Given the description of an element on the screen output the (x, y) to click on. 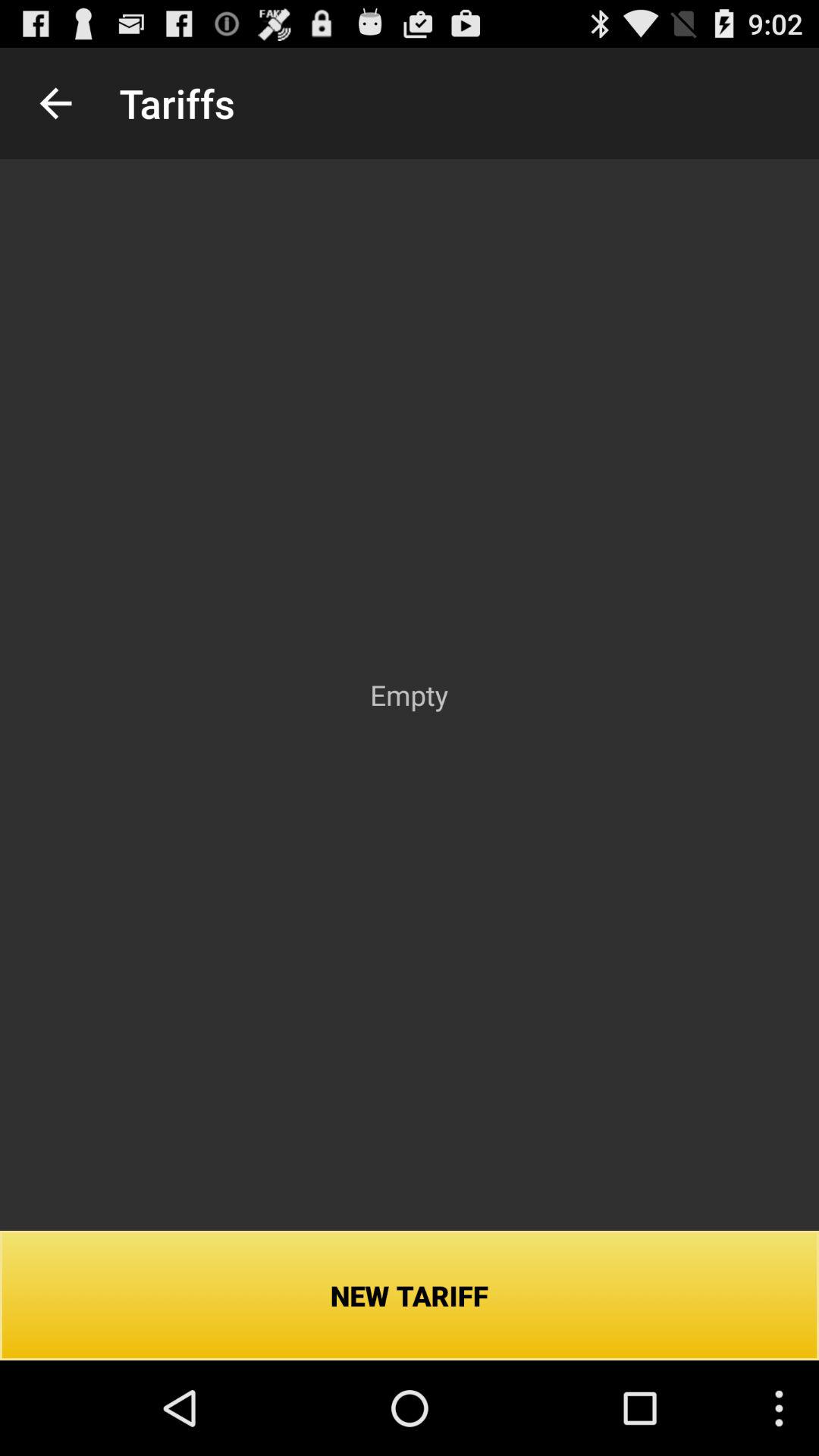
launch icon next to the tariffs (55, 103)
